Given the description of an element on the screen output the (x, y) to click on. 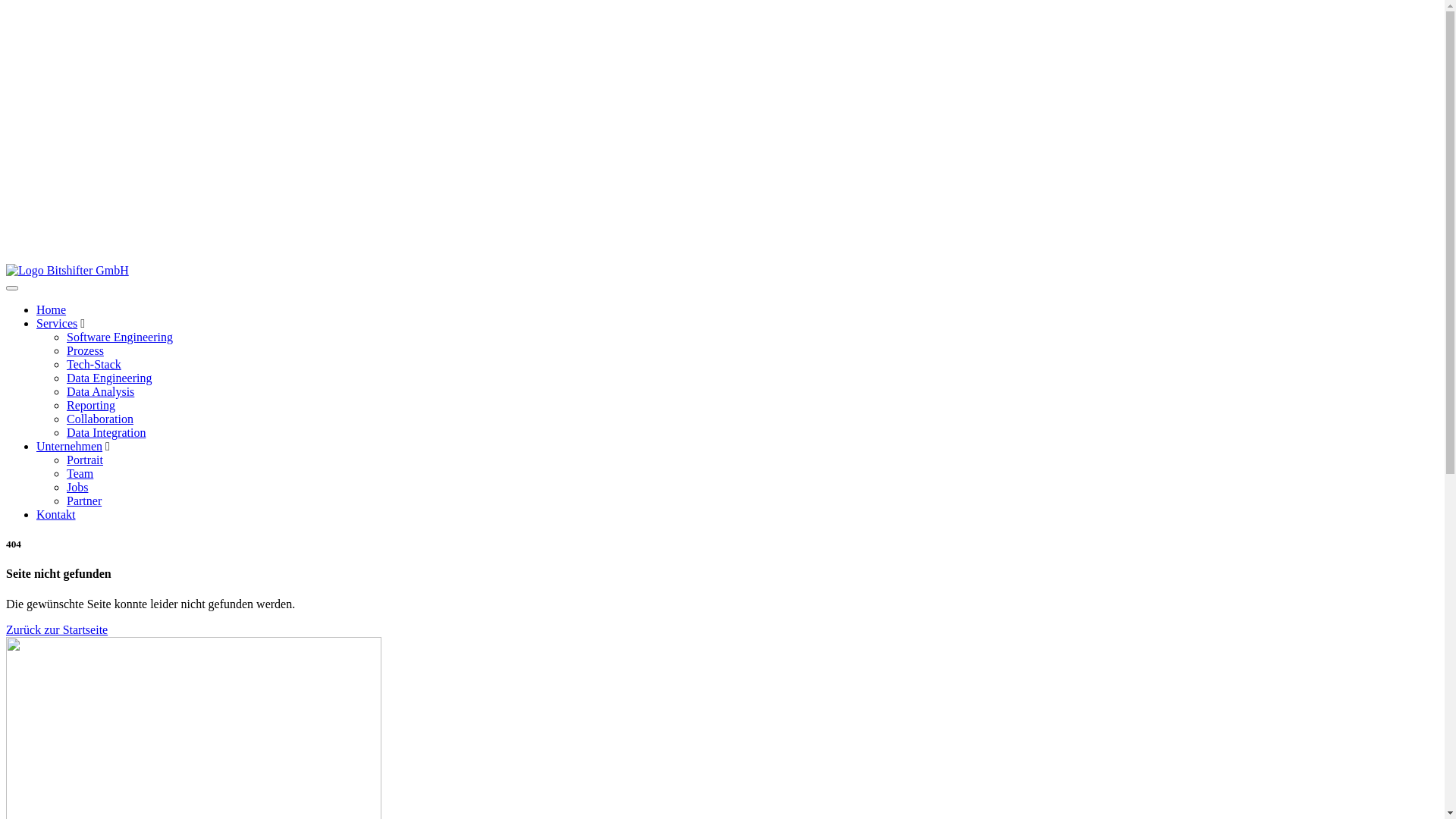
Software Engineering Element type: text (119, 336)
Prozess Element type: text (84, 350)
Data Integration Element type: text (105, 432)
Jobs Element type: text (76, 486)
Collaboration Element type: text (99, 418)
Reporting Element type: text (90, 404)
Unternehmen Element type: text (69, 445)
Tech-Stack Element type: text (93, 363)
Data Engineering Element type: text (108, 377)
Data Analysis Element type: text (100, 391)
Partner Element type: text (83, 500)
Team Element type: text (79, 473)
Kontakt Element type: text (55, 514)
Portrait Element type: text (84, 459)
Home Element type: text (50, 309)
Services Element type: text (56, 322)
